Given the description of an element on the screen output the (x, y) to click on. 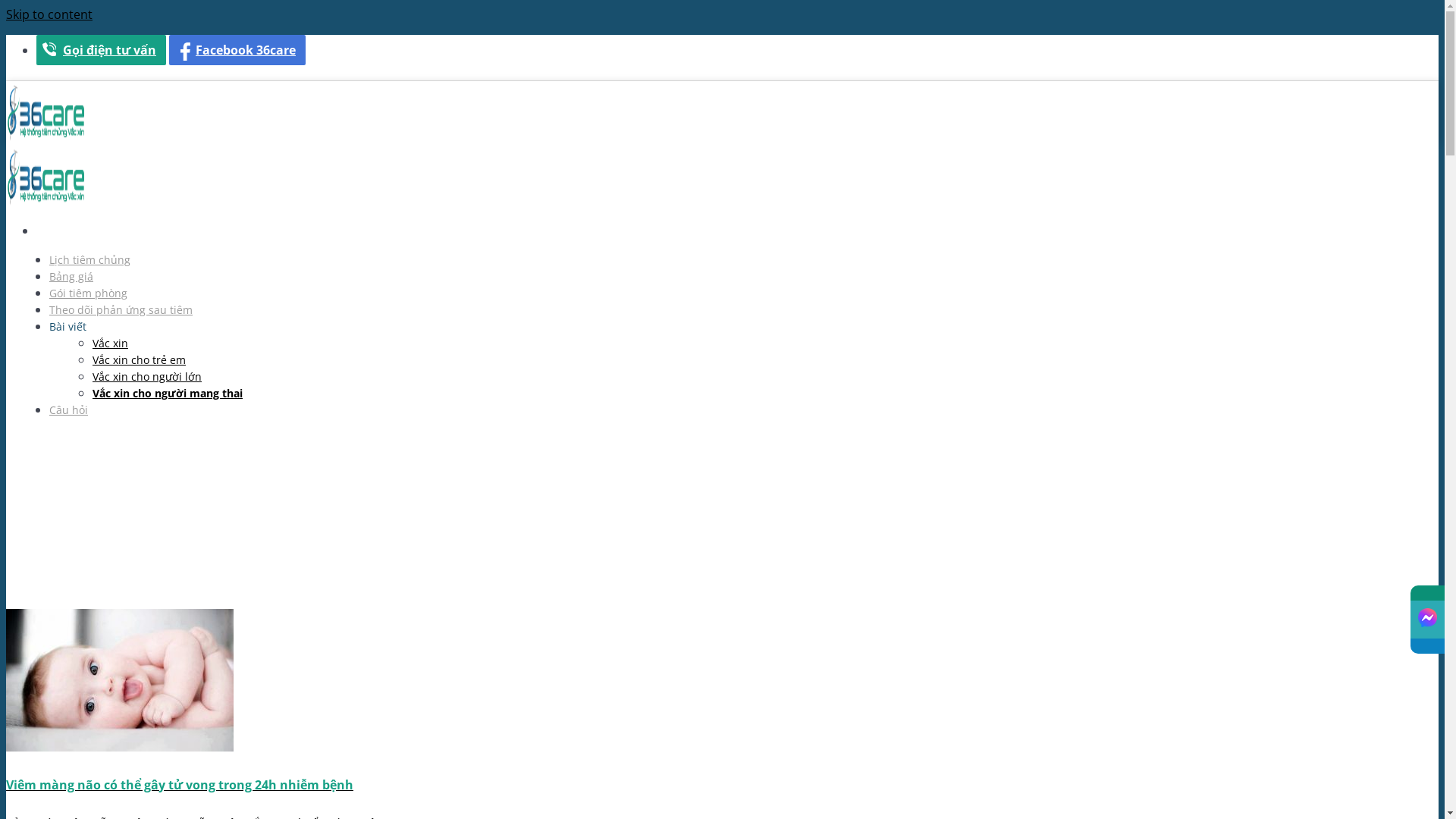
Facebook 36care Element type: text (237, 49)
Skip to content Element type: text (49, 14)
